Given the description of an element on the screen output the (x, y) to click on. 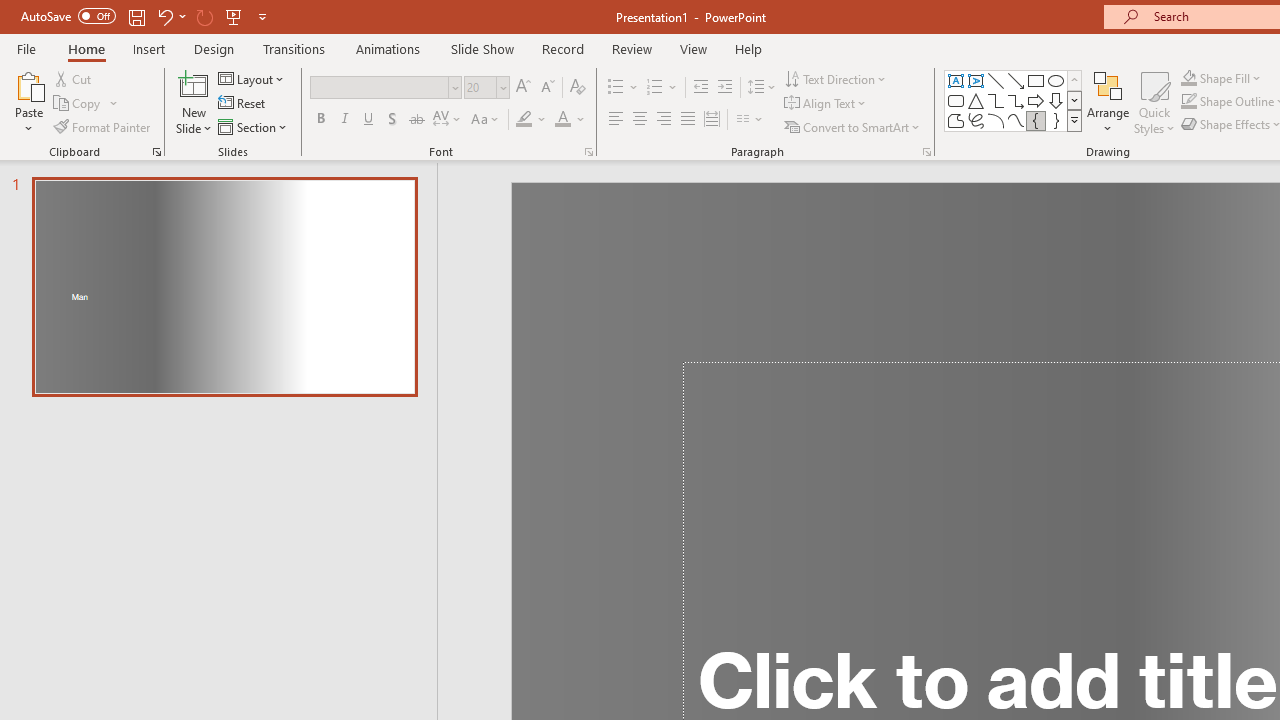
Section (254, 126)
Arrange (1108, 102)
Text Highlight Color Yellow (524, 119)
Freeform: Scribble (975, 120)
Shadow (392, 119)
Shape Fill Orange, Accent 2 (1188, 78)
Left Brace (1035, 120)
